Given the description of an element on the screen output the (x, y) to click on. 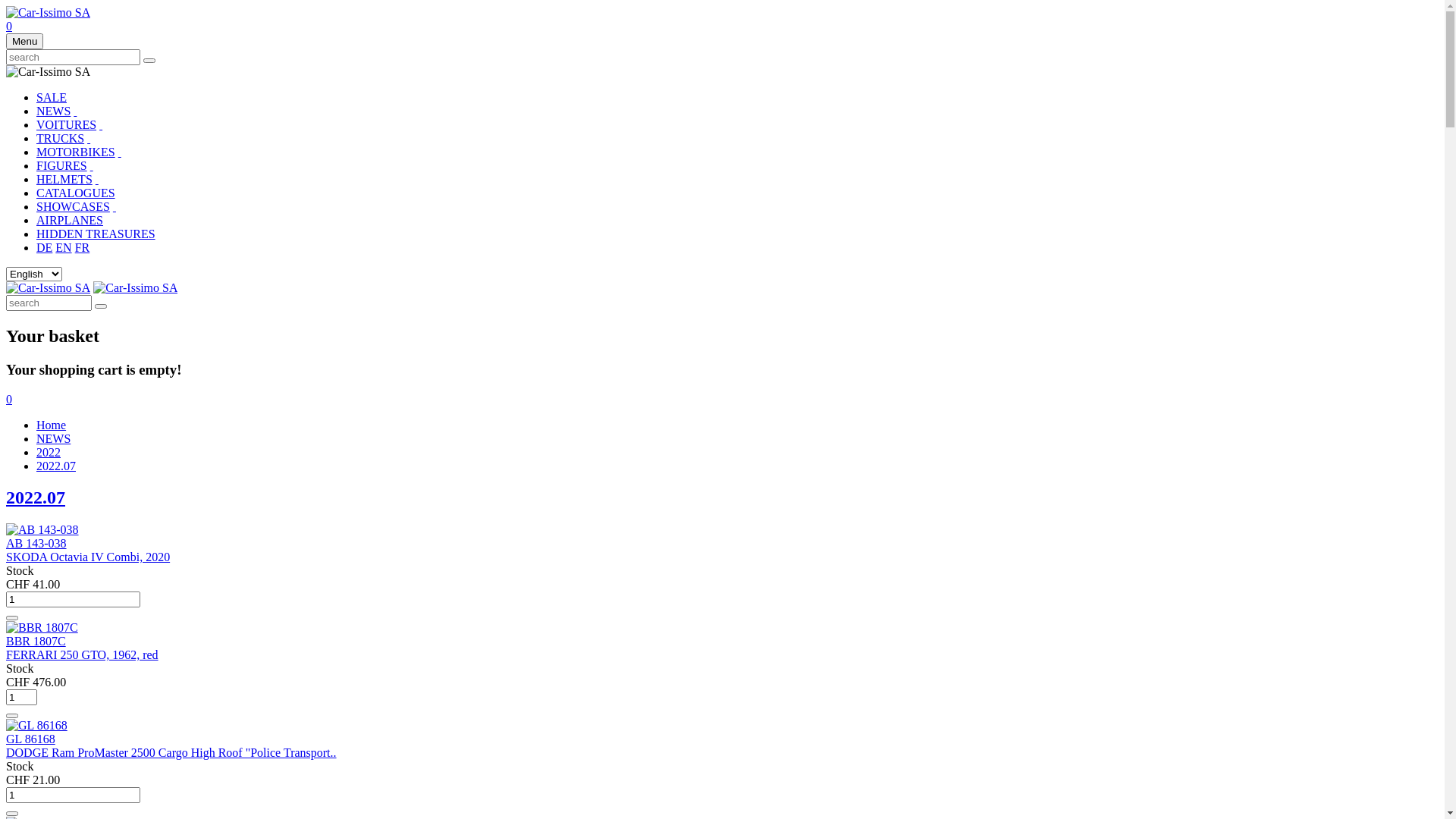
  Element type: text (88, 137)
2022.07 Element type: text (55, 465)
Click to see details Element type: hover (42, 627)
2022.07 Element type: text (35, 497)
  Element type: text (114, 206)
CATALOGUES Element type: text (75, 192)
VOITURES Element type: text (66, 124)
  Element type: text (96, 178)
0 Element type: text (9, 398)
EN Element type: text (63, 247)
into shopping cart Element type: hover (12, 715)
NEWS Element type: text (53, 438)
HELMETS Element type: text (64, 178)
  Element type: text (91, 165)
  Element type: text (119, 151)
Quantity Element type: hover (73, 795)
SALE Element type: text (51, 97)
BBR 1807C Element type: text (35, 640)
Click to see details Element type: hover (36, 725)
SKODA Octavia IV Combi, 2020 Element type: text (87, 556)
MOTORBIKES Element type: text (75, 151)
0 Element type: text (9, 25)
DE Element type: text (44, 247)
  Element type: text (74, 110)
into shopping cart Element type: hover (12, 617)
FERRARI 250 GTO, 1962, red Element type: text (82, 654)
Home Element type: text (50, 424)
SHOWCASES Element type: text (72, 206)
into shopping cart Element type: hover (12, 813)
Click to see details Element type: hover (42, 529)
AB 143-038 Element type: text (36, 542)
  Element type: text (100, 124)
TRUCKS Element type: text (60, 137)
FR Element type: text (82, 247)
GL 86168 Element type: text (30, 738)
AIRPLANES Element type: text (69, 219)
Quantity Element type: hover (73, 599)
HIDDEN TREASURES Element type: text (95, 233)
FIGURES Element type: text (61, 165)
NEWS Element type: text (53, 110)
Menu Element type: text (24, 41)
2022 Element type: text (48, 451)
DODGE Ram ProMaster 2500 Cargo High Roof "Police Transport.. Element type: text (171, 752)
